Given the description of an element on the screen output the (x, y) to click on. 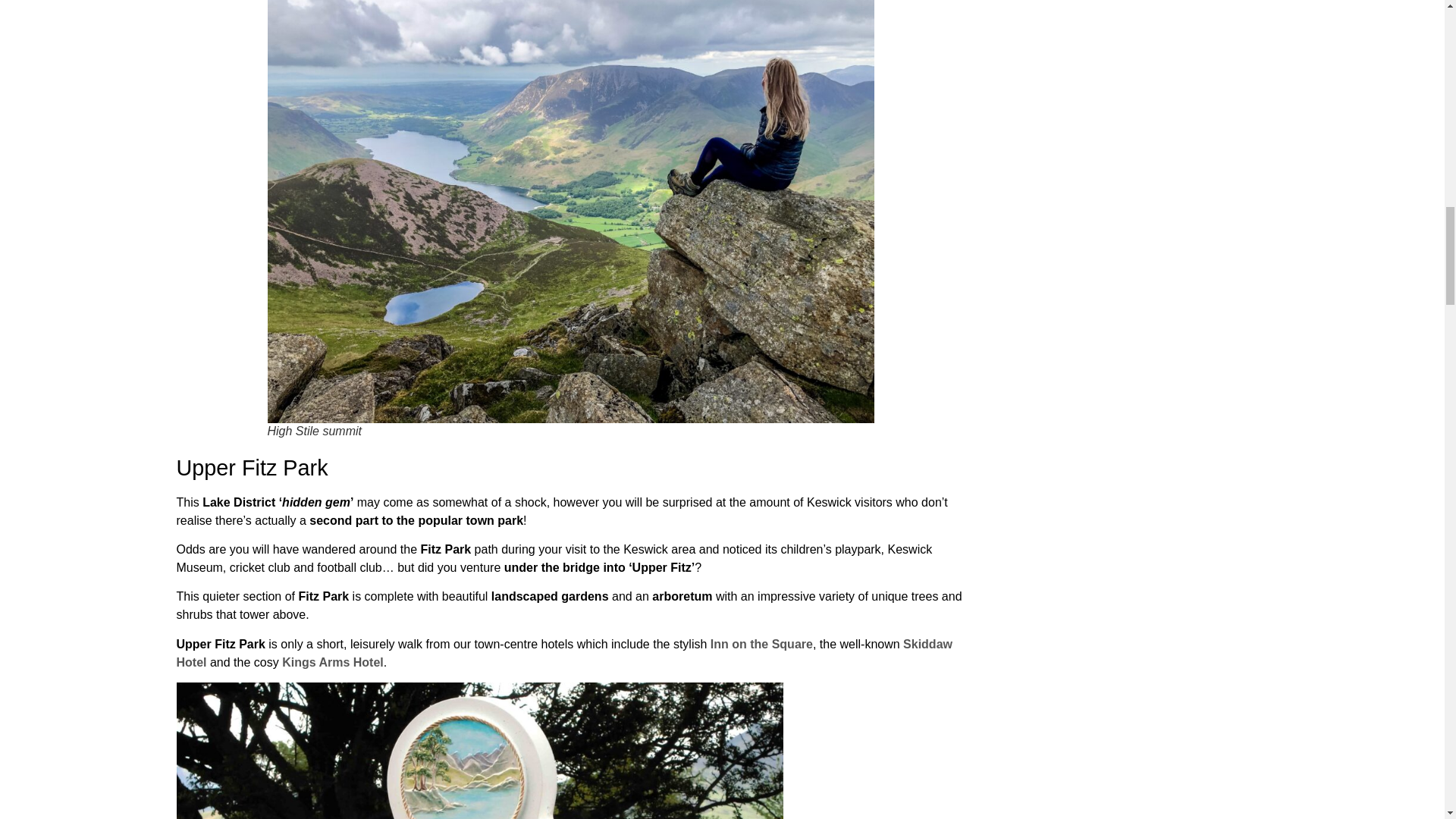
Kings Arms Hotel (333, 662)
Skiddaw Hotel (564, 653)
Inn on the Square (761, 644)
